Given the description of an element on the screen output the (x, y) to click on. 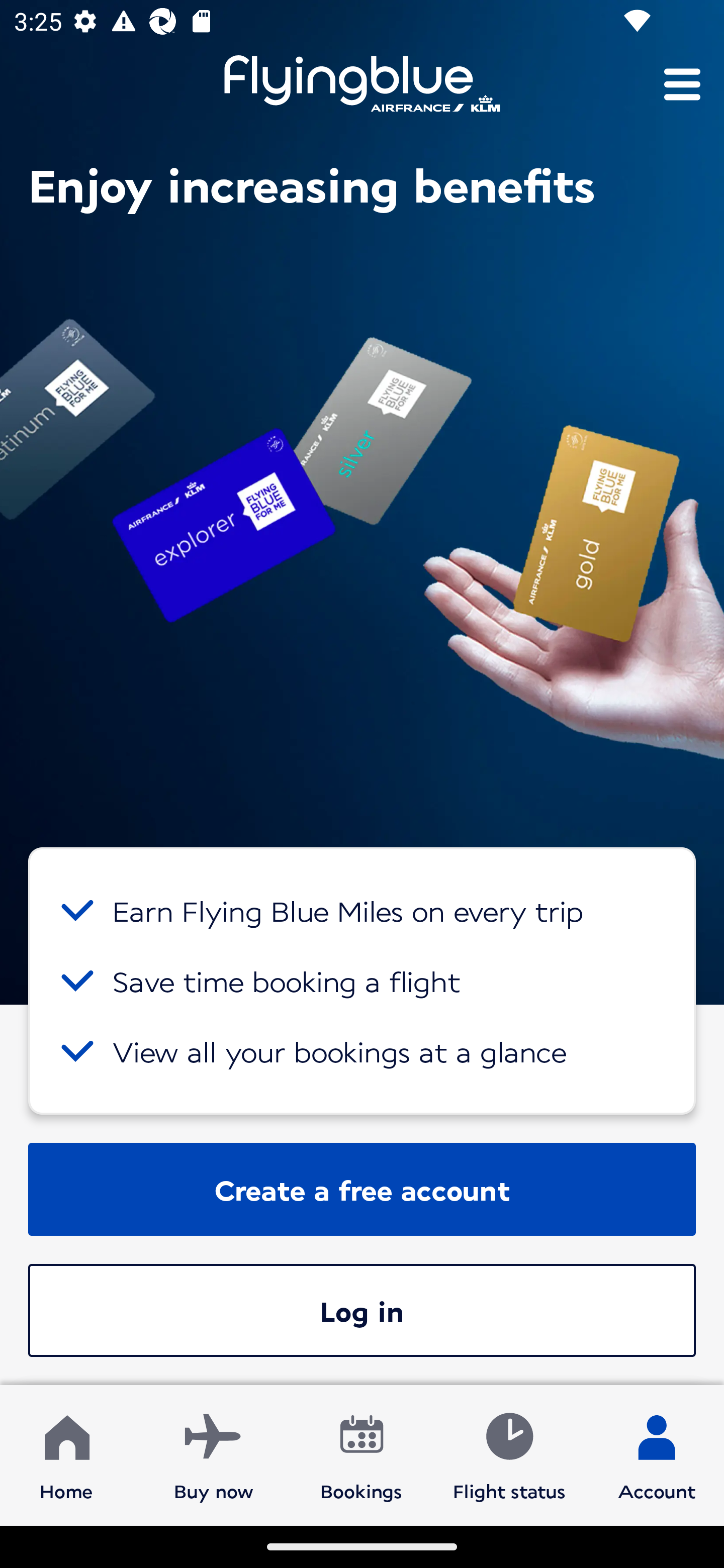
Create a free account (361, 1189)
Log in (361, 1309)
Home (66, 1454)
Buy now (213, 1454)
Bookings (361, 1454)
Flight status (509, 1454)
